Given the description of an element on the screen output the (x, y) to click on. 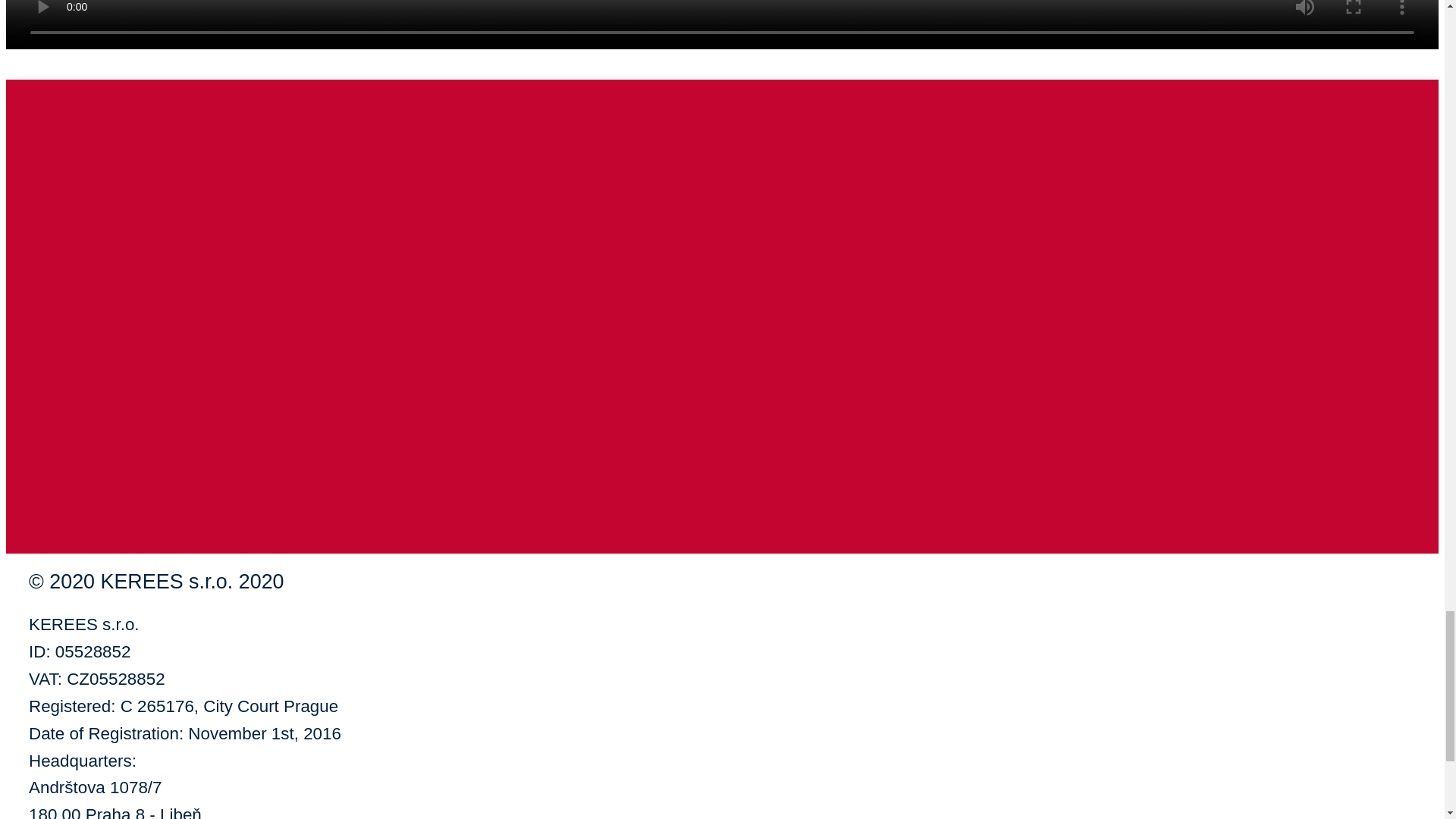
Send (38, 505)
